Given the description of an element on the screen output the (x, y) to click on. 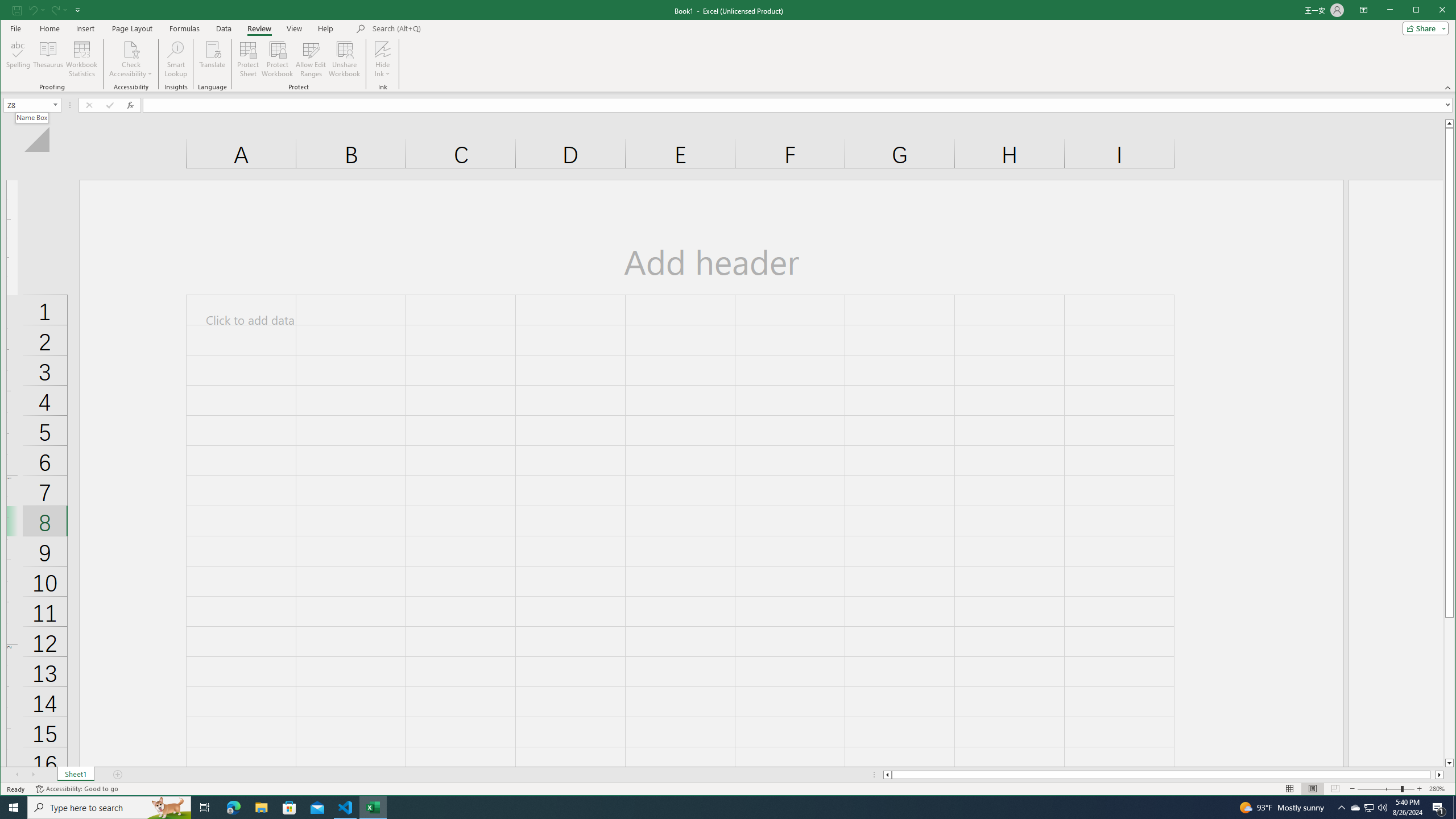
Visual Studio Code - 1 running window (345, 807)
Allow Edit Ranges (310, 59)
Search highlights icon opens search home window (167, 807)
Workbook Statistics (82, 59)
Microsoft Store (289, 807)
Maximize (1432, 11)
